Given the description of an element on the screen output the (x, y) to click on. 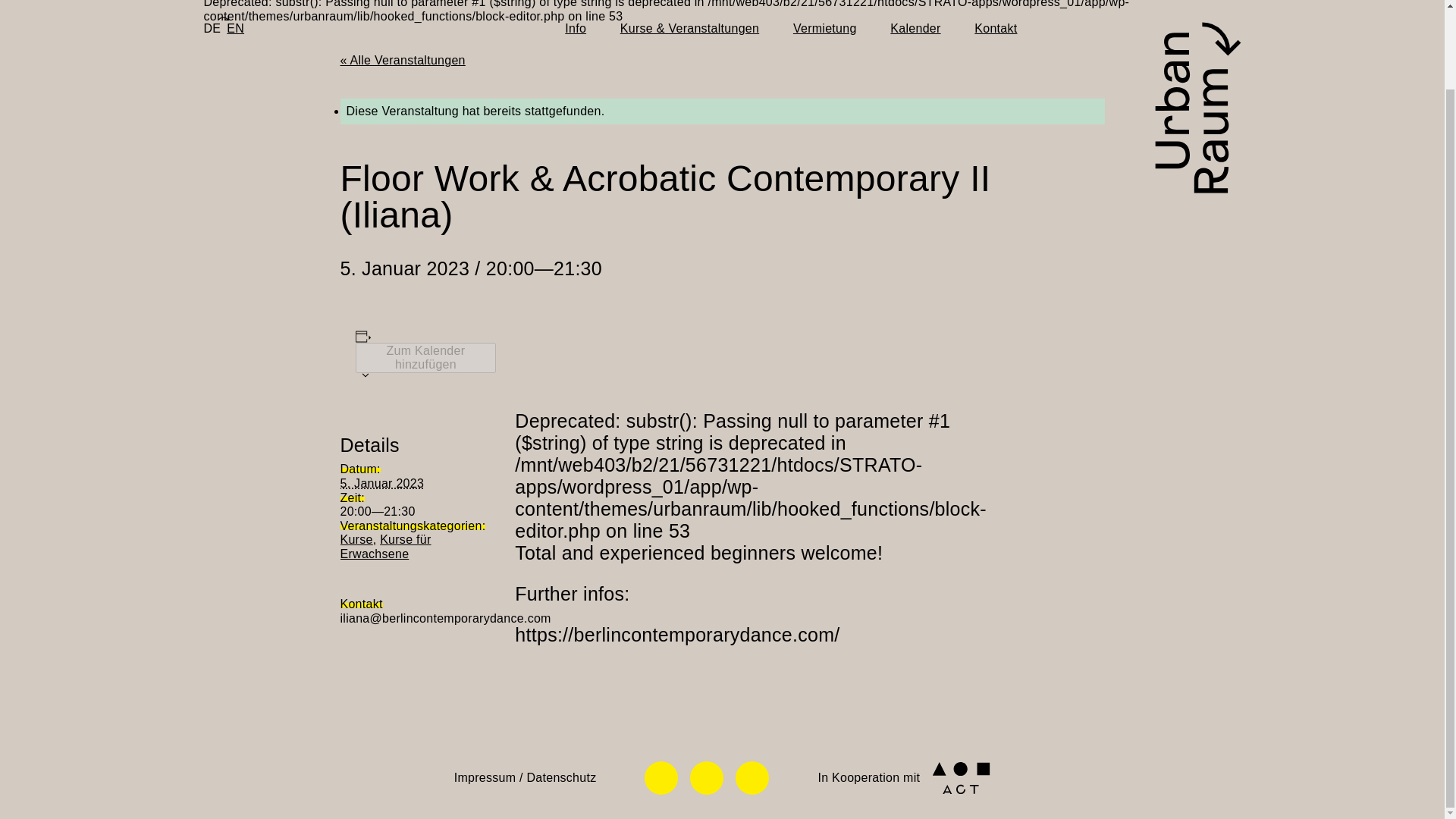
Instagram (706, 777)
2023-01-05 (403, 512)
2023-01-05 (381, 482)
Facebook (661, 777)
Facebook (661, 777)
Instagram (706, 777)
Linkedin (751, 777)
Kurse (355, 539)
Linkedin (751, 777)
